Given the description of an element on the screen output the (x, y) to click on. 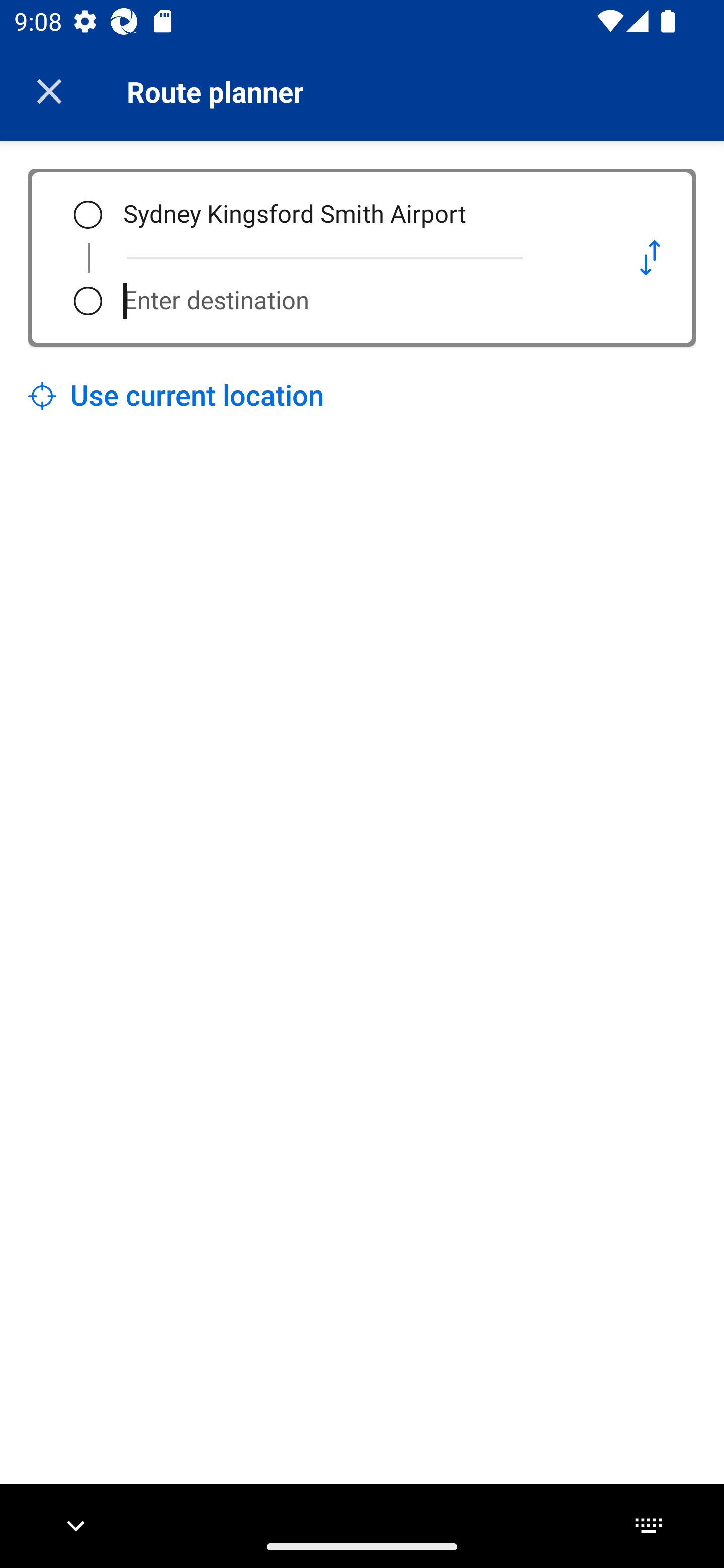
Close (49, 91)
Sydney Kingsford Smith Airport (355, 214)
Swap pick-up location and destination (650, 257)
Enter destination (355, 300)
Use current location (176, 395)
